Given the description of an element on the screen output the (x, y) to click on. 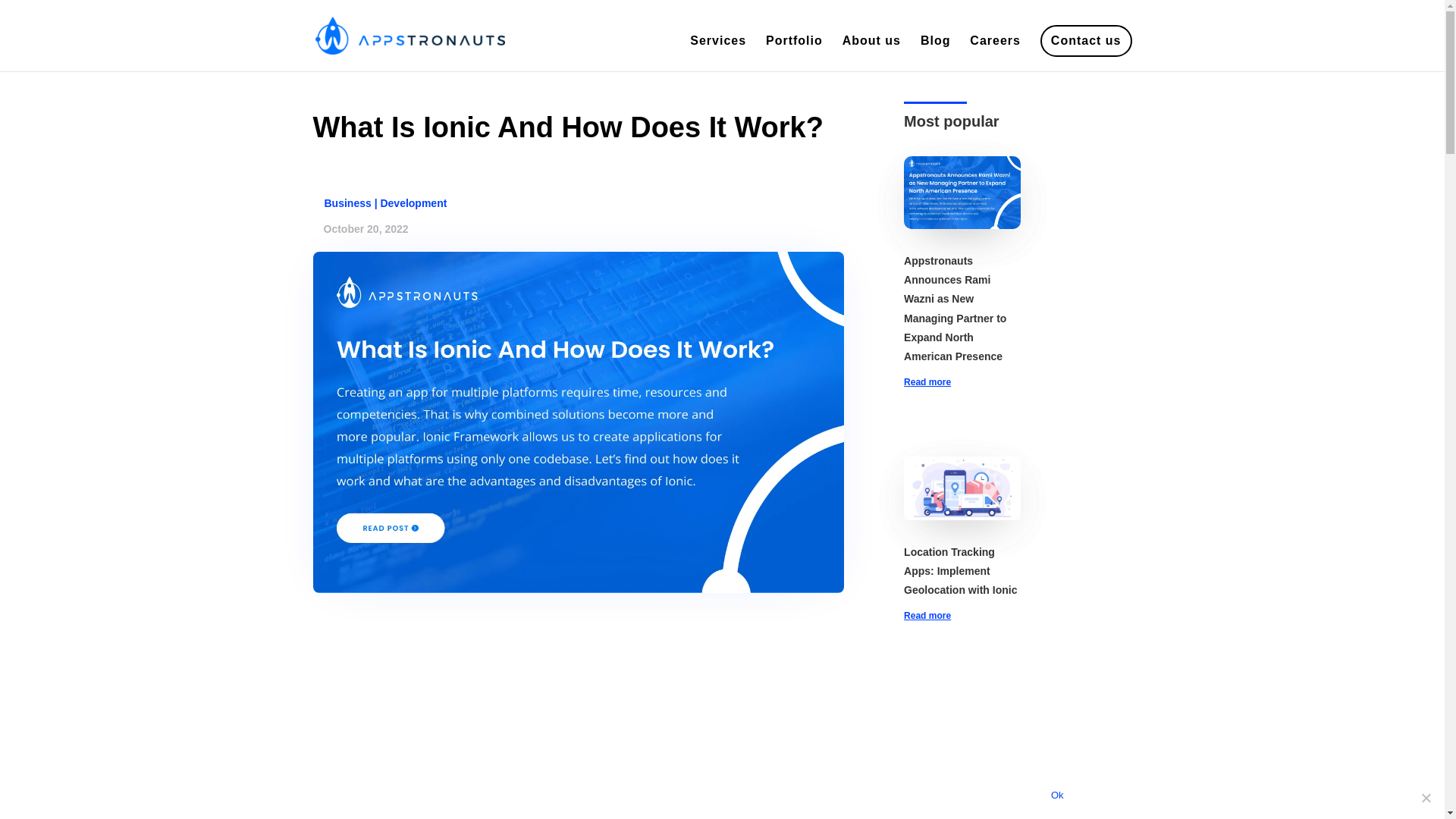
Contact us (1086, 53)
Development (413, 203)
Portfolio (793, 53)
read more (962, 616)
Location Tracking Apps: Implement Geolocation with Ionic (960, 571)
About us (872, 53)
Services (717, 53)
No (1425, 797)
Careers (994, 53)
Business (347, 203)
read more (962, 382)
Blog (935, 53)
